Given the description of an element on the screen output the (x, y) to click on. 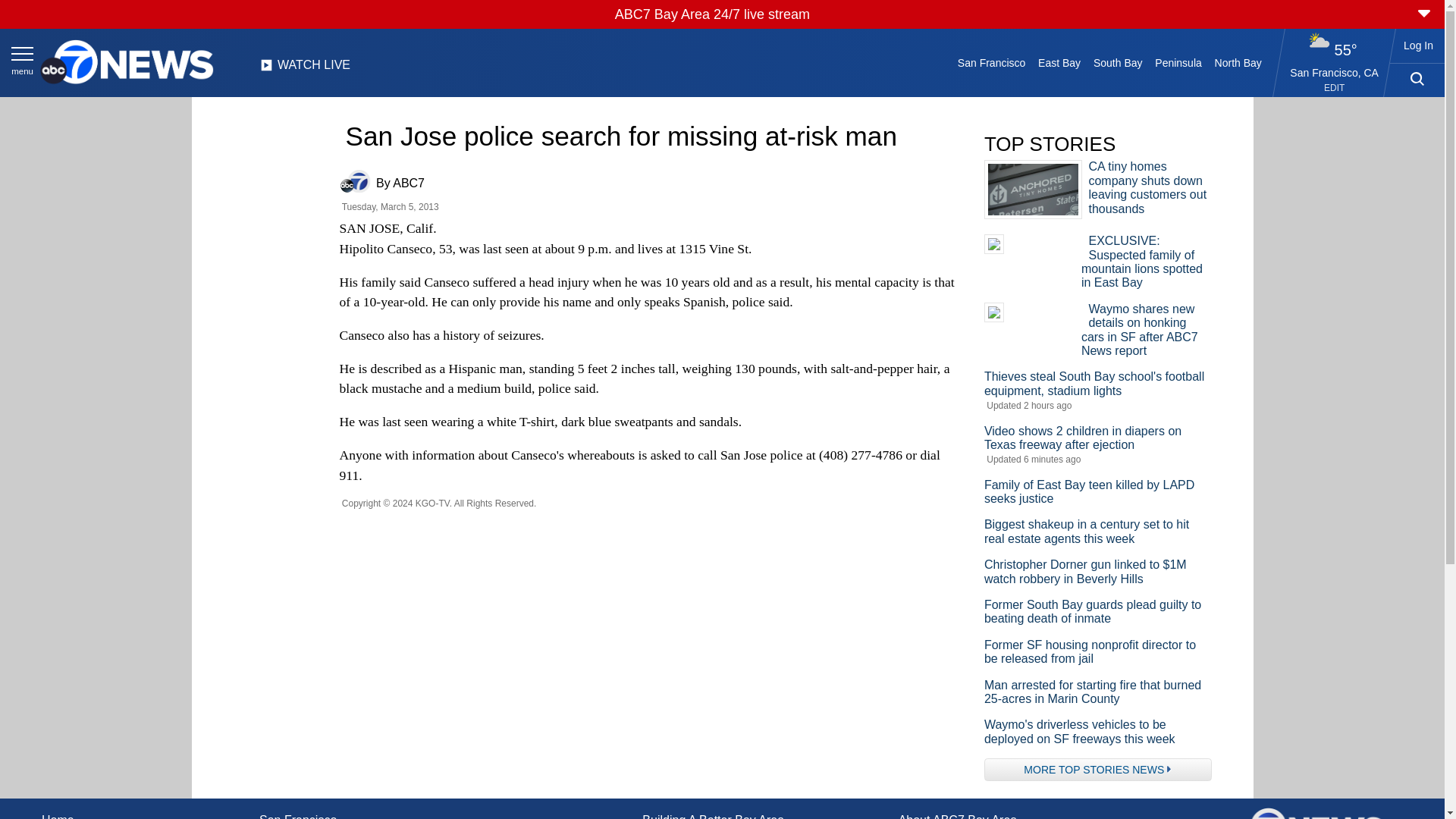
East Bay (1059, 62)
San Francisco (990, 62)
San Francisco, CA (1334, 72)
North Bay (1238, 62)
South Bay (1117, 62)
WATCH LIVE (305, 69)
Peninsula (1178, 62)
EDIT (1333, 87)
